Given the description of an element on the screen output the (x, y) to click on. 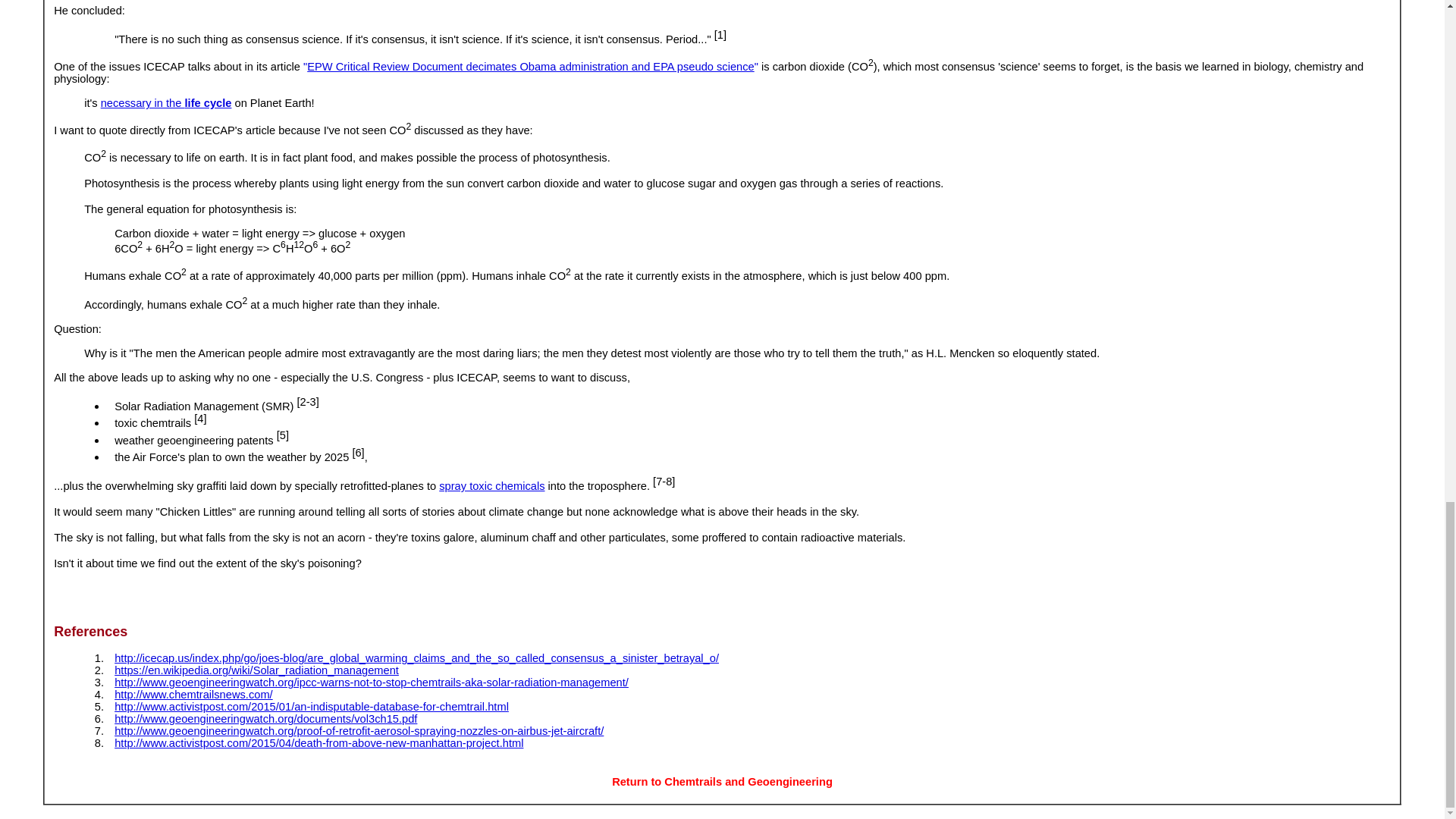
spray toxic chemicals (491, 485)
necessary in the life cycle (165, 102)
Return to Chemtrails and Geoengineering (721, 781)
